Given the description of an element on the screen output the (x, y) to click on. 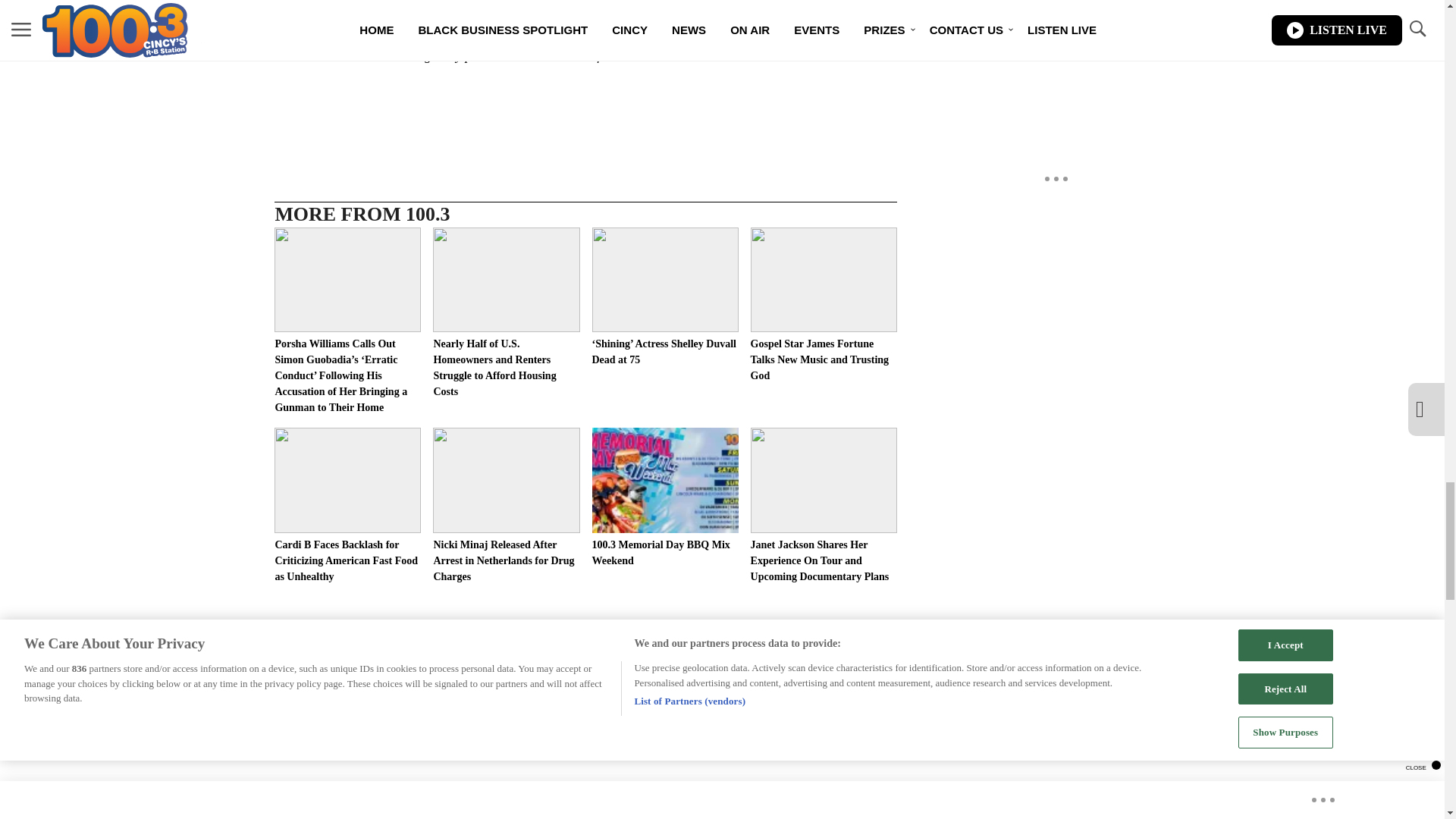
Vuukle Sharebar Widget (585, 101)
hellobeautiful.com (586, 55)
